Given the description of an element on the screen output the (x, y) to click on. 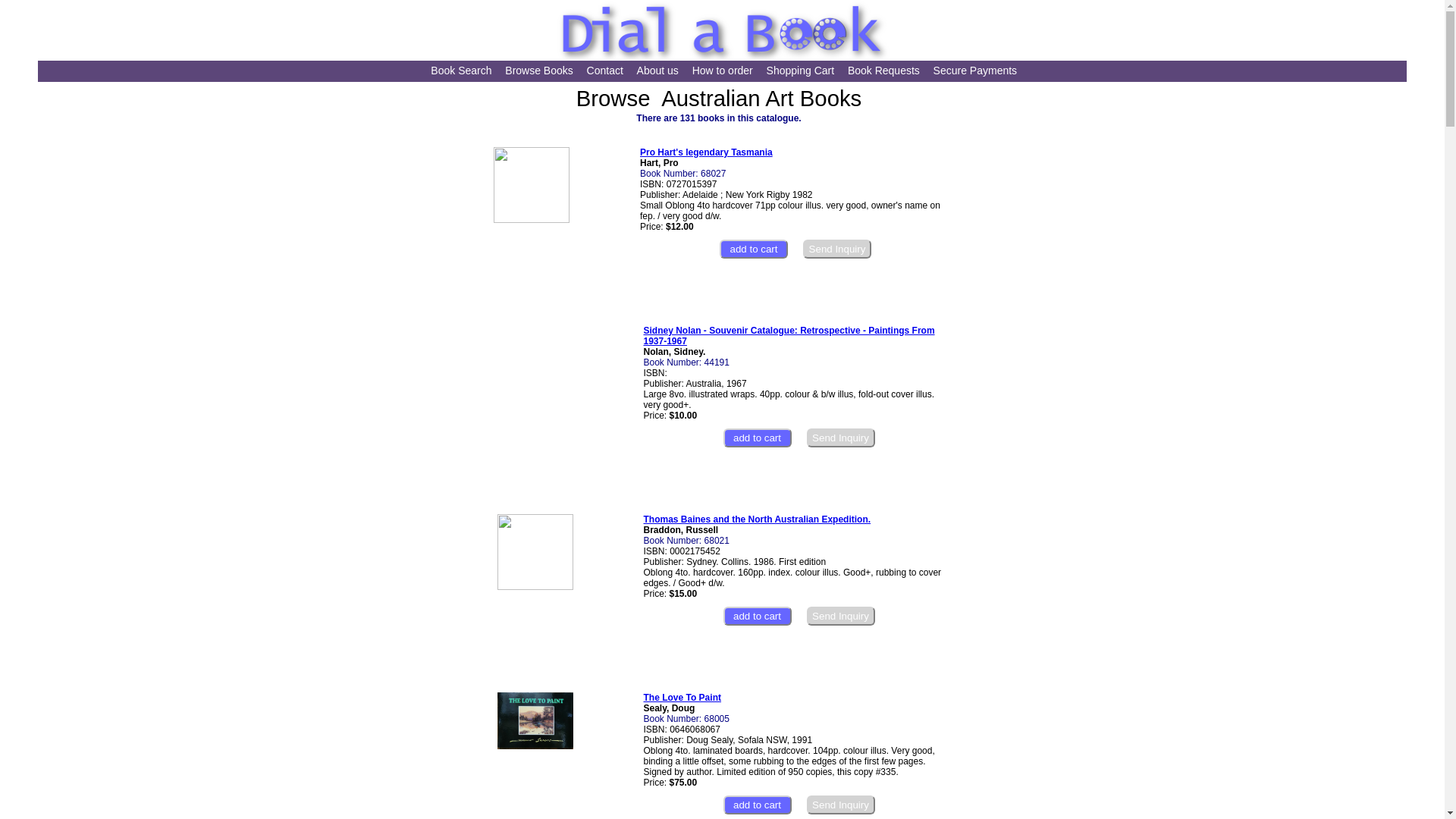
Pro Hart's legendary Tasmania Element type: text (706, 152)
Thomas Baines and the North Australian Expedition. Element type: text (756, 519)
Send Inquiry Element type: text (837, 248)
The Love To Paint Element type: text (681, 697)
Book Requests Element type: text (883, 71)
Contact Element type: text (604, 71)
Send Inquiry Element type: text (840, 437)
About us Element type: text (657, 71)
Send Inquiry Element type: text (840, 804)
Shopping Cart Element type: text (800, 71)
Book Search Element type: text (460, 71)
Secure Payments Element type: text (975, 71)
Send Inquiry Element type: text (840, 615)
Browse Books Element type: text (538, 71)
How to order Element type: text (722, 71)
